Given the description of an element on the screen output the (x, y) to click on. 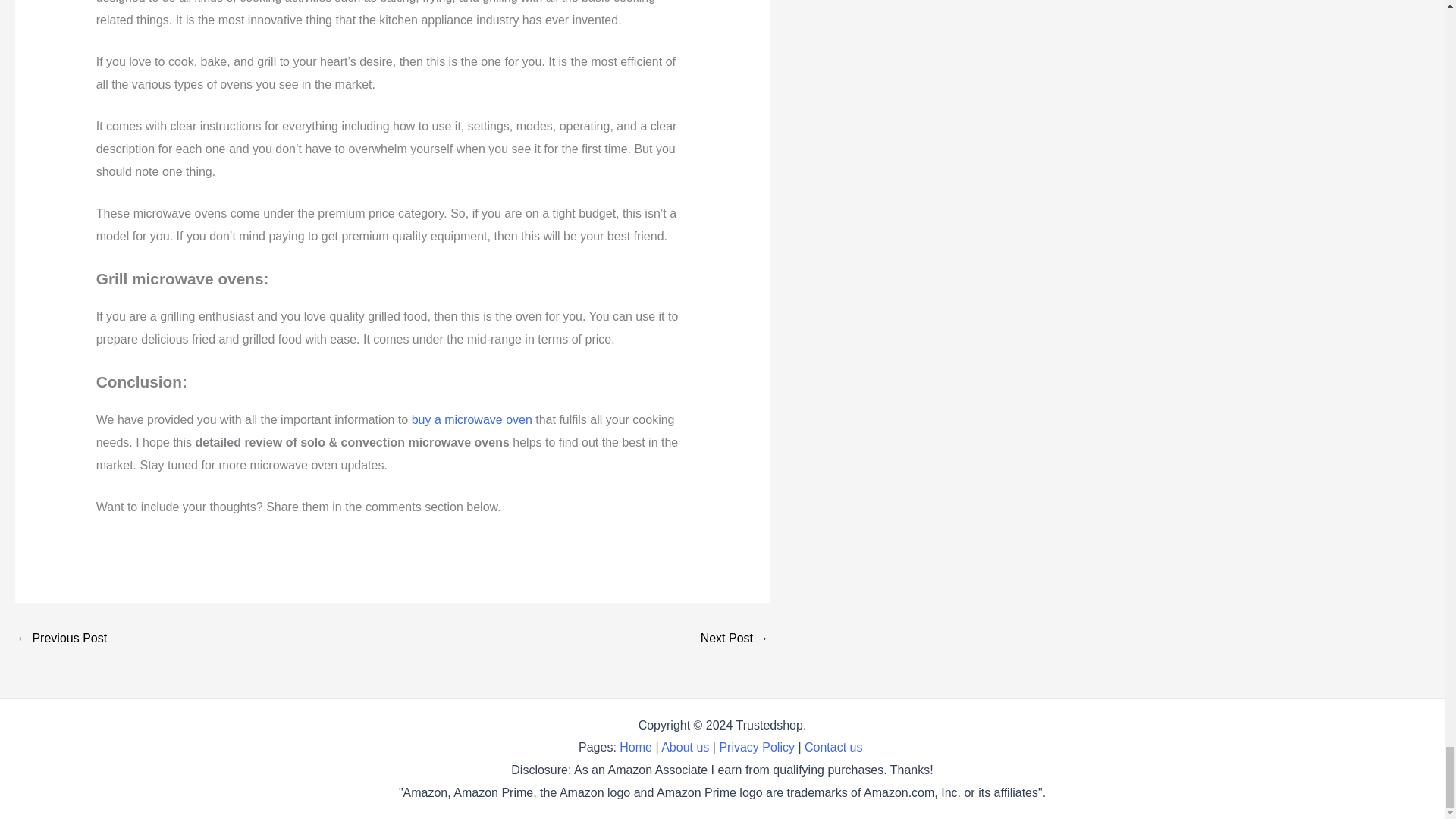
buy a microwave oven (472, 419)
